Given the description of an element on the screen output the (x, y) to click on. 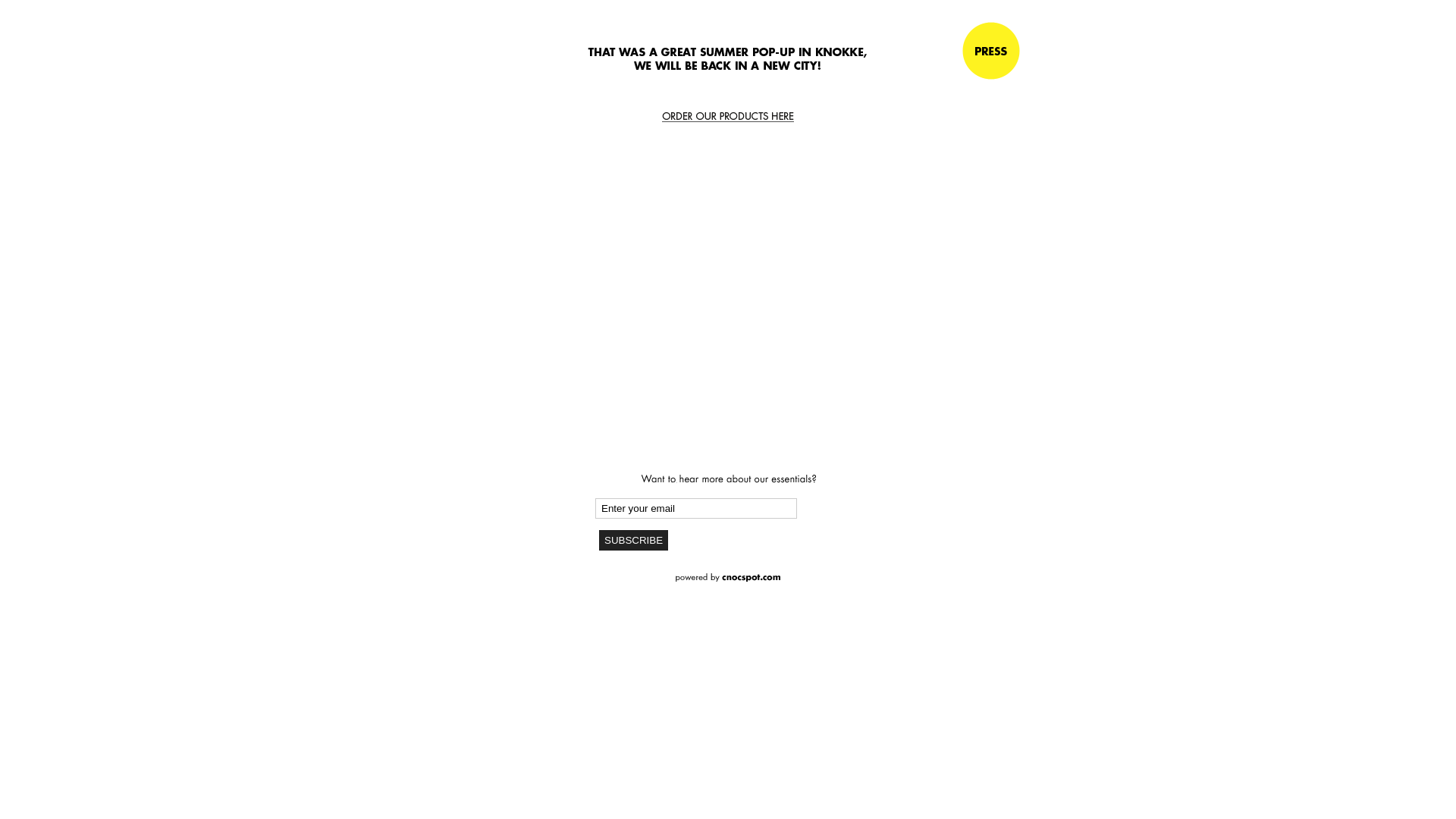
Order our products here Element type: text (727, 116)
Press Element type: text (990, 50)
Subscribe Element type: text (633, 540)
powered by cnocspot.com Element type: text (727, 577)
